Given the description of an element on the screen output the (x, y) to click on. 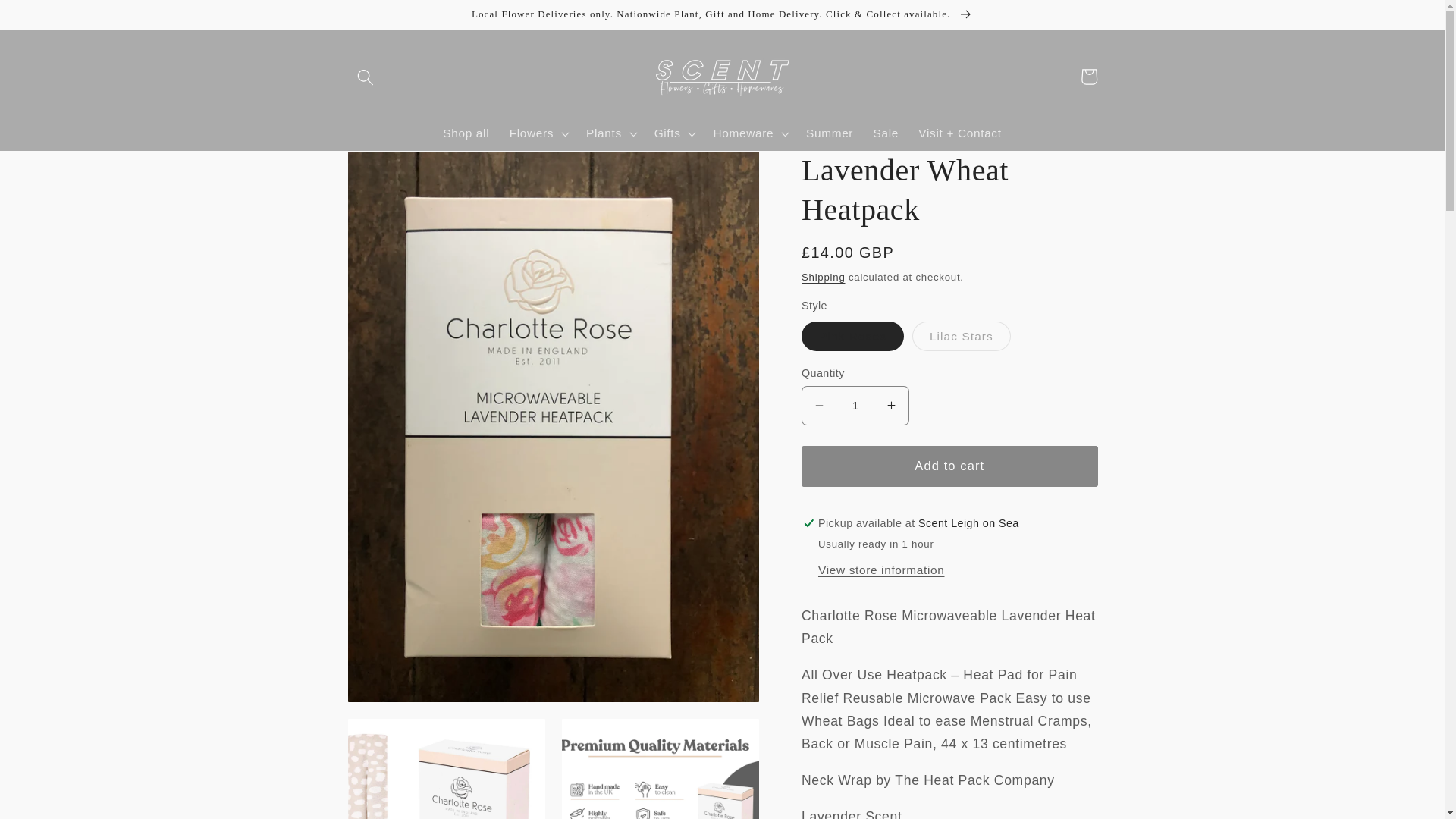
Skip to content (50, 20)
1 (855, 405)
